Given the description of an element on the screen output the (x, y) to click on. 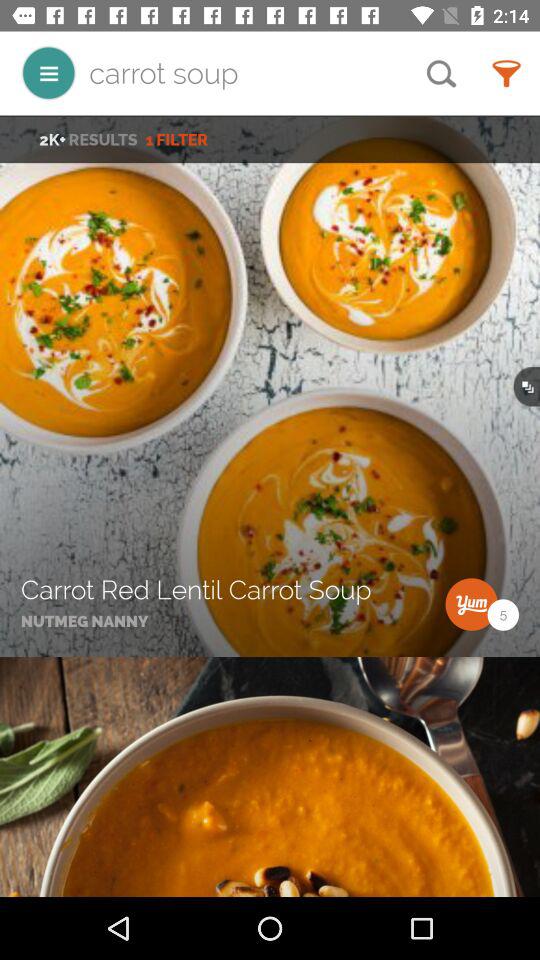
tap icon next to the carrot soup item (48, 72)
